Given the description of an element on the screen output the (x, y) to click on. 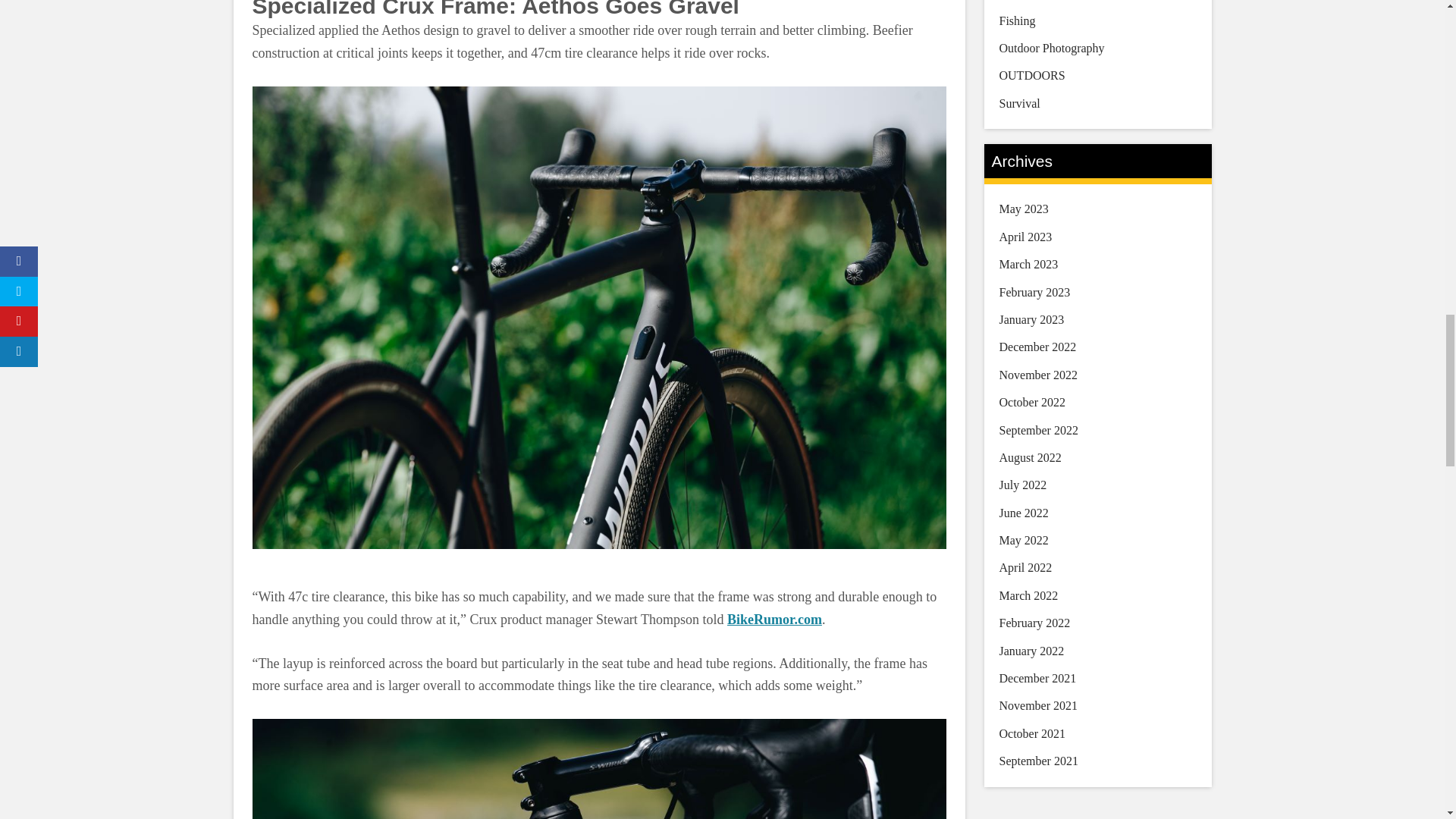
specialized gravel bike (597, 769)
